Given the description of an element on the screen output the (x, y) to click on. 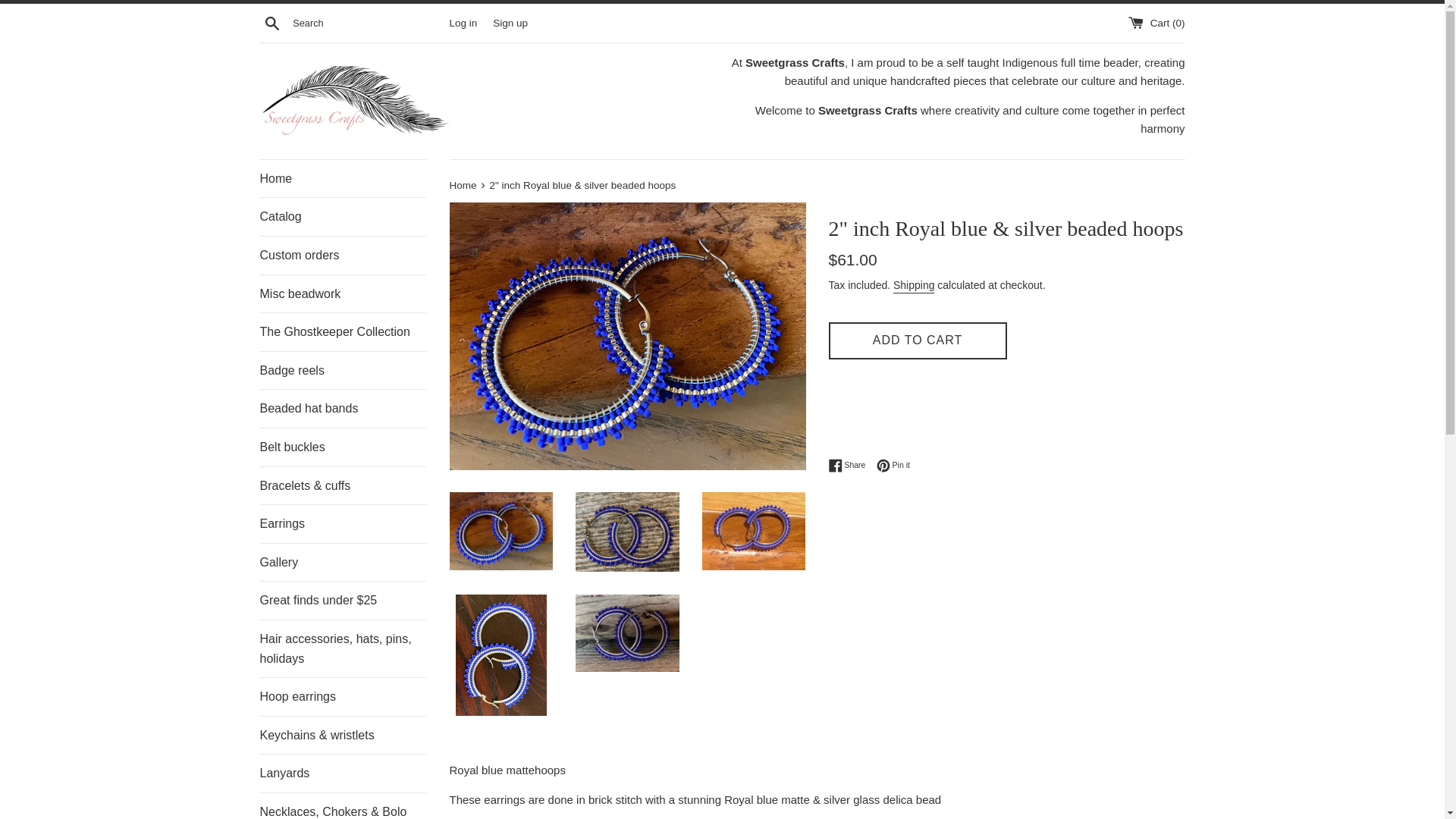
Log in (462, 21)
Home (342, 178)
The Ghostkeeper Collection (342, 331)
Beaded hat bands (342, 408)
Misc beadwork (342, 293)
Belt buckles (342, 447)
Share on Facebook (850, 465)
Custom orders (342, 255)
Gallery (342, 562)
Pin on Pinterest (893, 465)
Hoop earrings (342, 696)
Back to the frontpage (463, 184)
Catalog (342, 216)
Sign up (510, 21)
Home (463, 184)
